Given the description of an element on the screen output the (x, y) to click on. 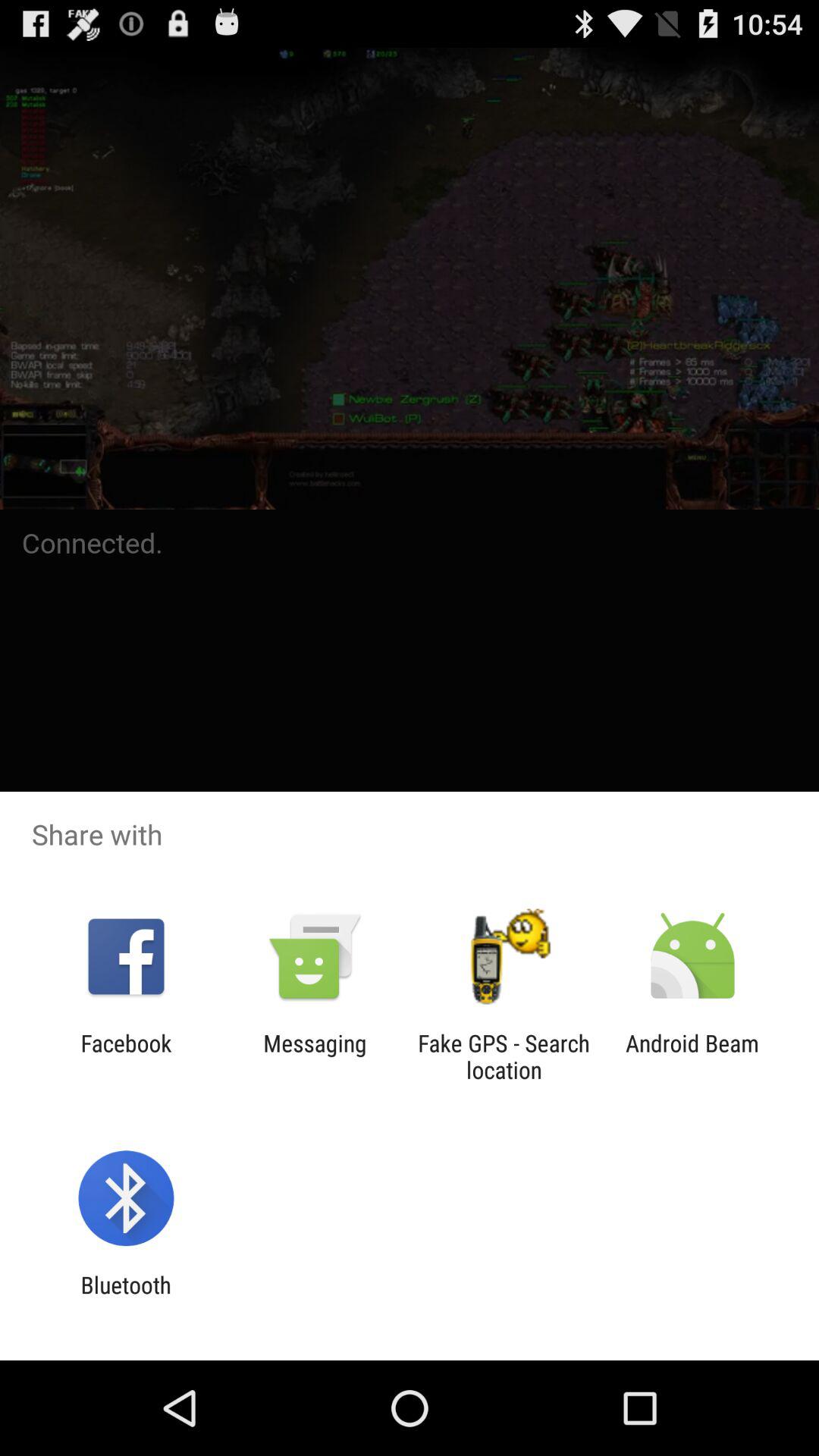
turn off item to the left of fake gps search (314, 1056)
